Given the description of an element on the screen output the (x, y) to click on. 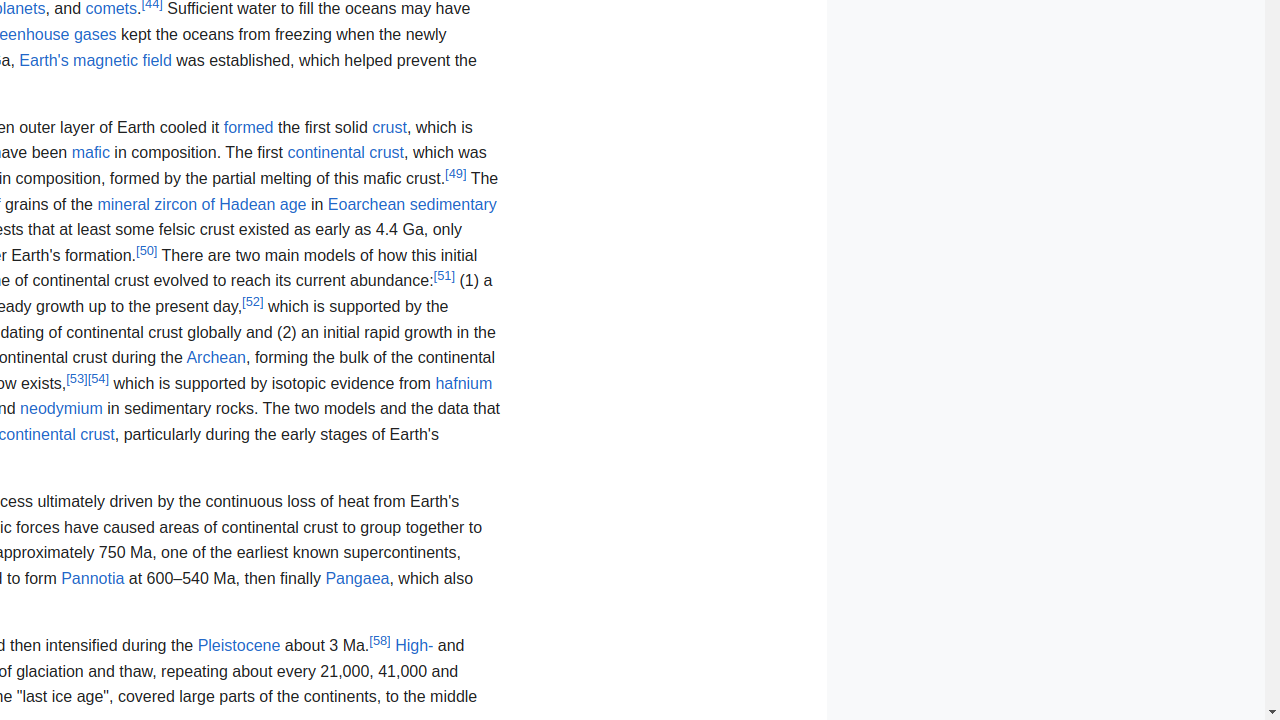
[58] Element type: link (380, 640)
Pleistocene Element type: link (239, 646)
